Given the description of an element on the screen output the (x, y) to click on. 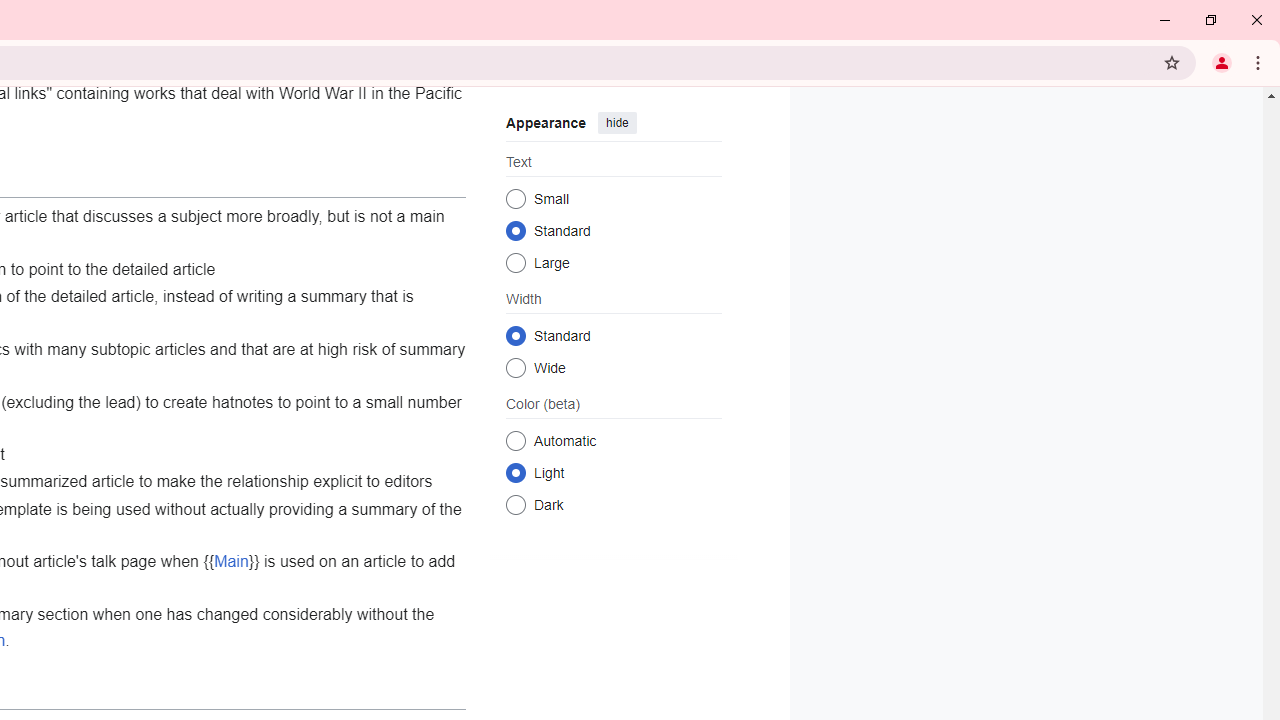
Dark (515, 503)
